Given the description of an element on the screen output the (x, y) to click on. 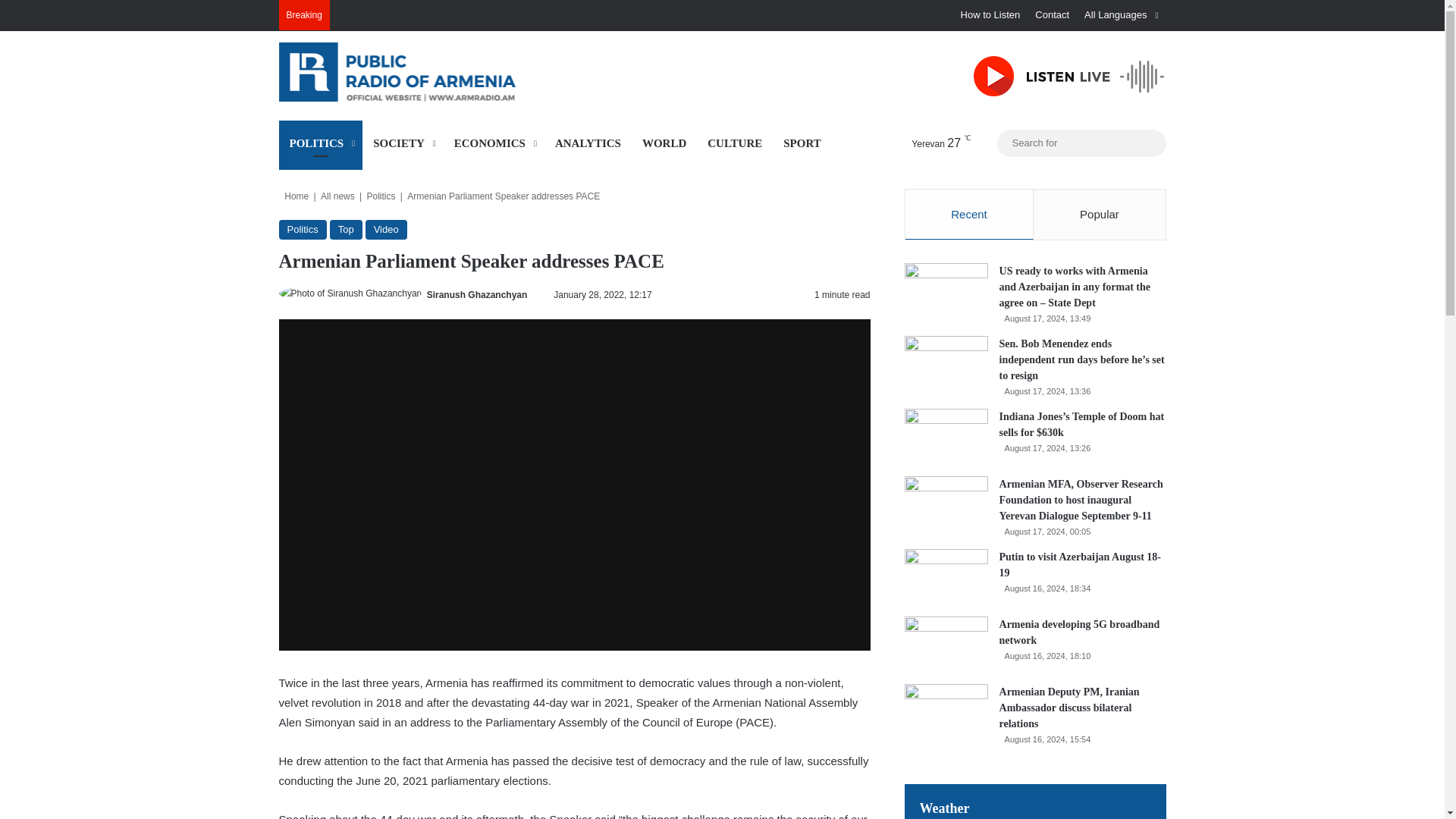
How to Listen (990, 15)
Siranush Ghazanchyan (476, 294)
Search for (1080, 142)
SOCIETY (403, 143)
ECONOMICS (494, 143)
WORLD (664, 143)
Contact (1052, 15)
All news (337, 195)
ANALYTICS (587, 143)
Scattered Clouds (926, 142)
